Given the description of an element on the screen output the (x, y) to click on. 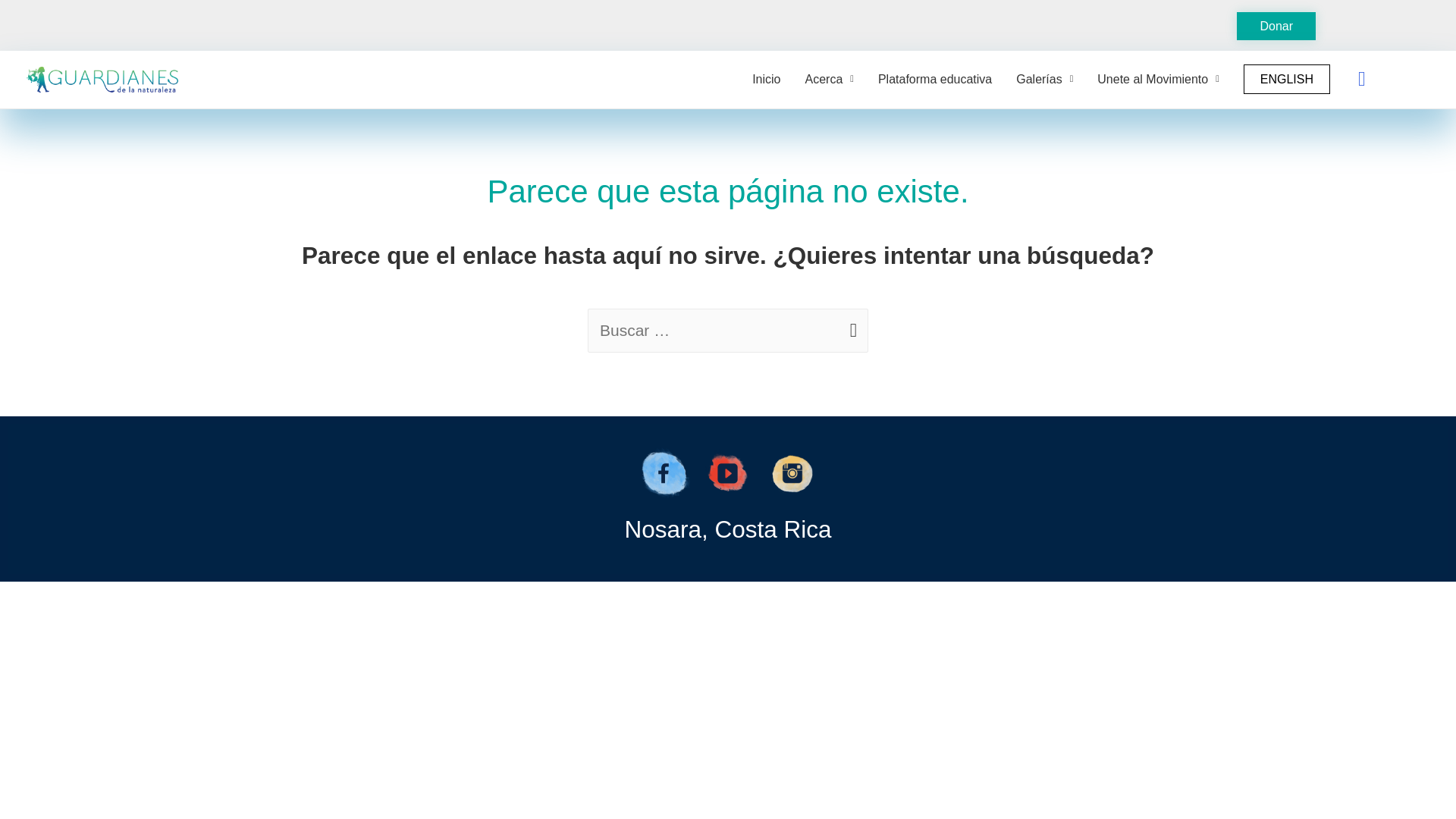
Inicio (765, 79)
Acerca (829, 79)
Unete al Movimiento (1157, 79)
Buscar (24, 22)
Donar (1276, 26)
Plataforma educativa (935, 79)
English (1286, 79)
ENGLISH (1286, 79)
